Given the description of an element on the screen output the (x, y) to click on. 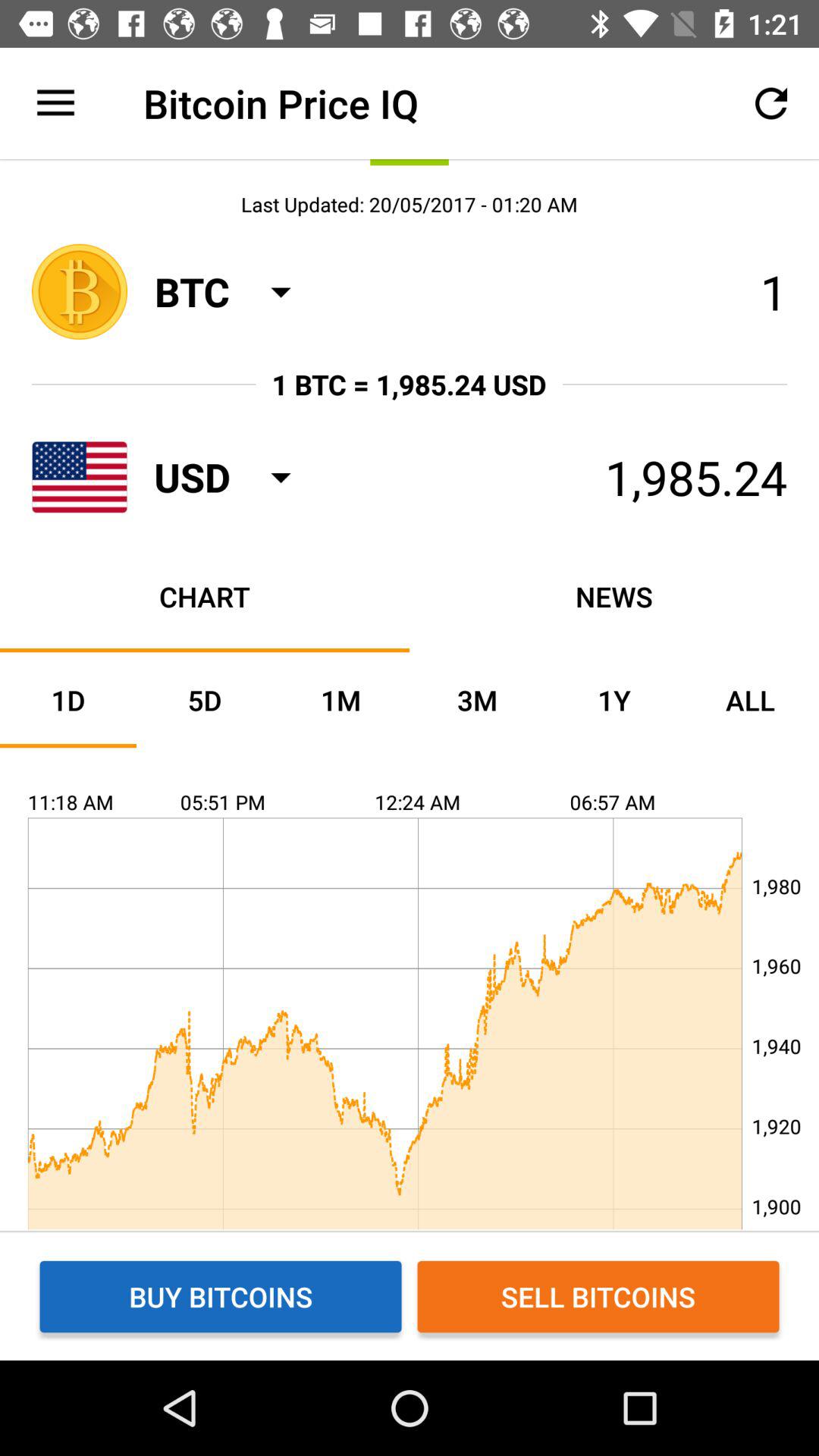
scroll until the sell bitcoins icon (598, 1296)
